Given the description of an element on the screen output the (x, y) to click on. 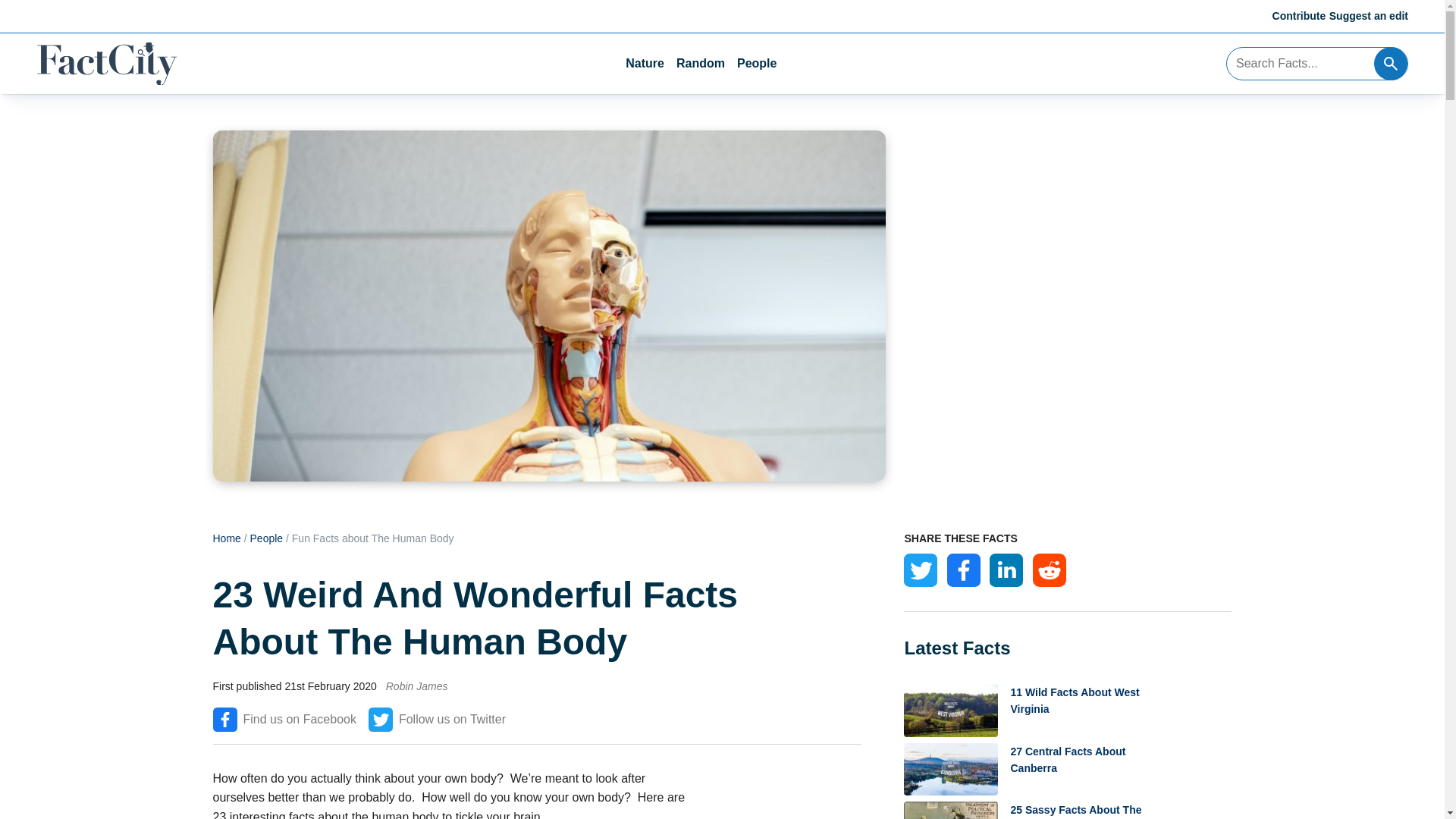
Share this article on Twitter (920, 570)
Twitter (920, 570)
Random (701, 63)
Contribute to FactCity (1299, 15)
Suggest an edit (1368, 15)
25 Sassy Facts About The Suffragettes (1067, 810)
27 Central Facts About Canberra (1067, 769)
Share this article on Reddit (1048, 570)
Facebook (963, 570)
Share this article on Linkedin (1006, 570)
Search (1390, 63)
Search (1390, 63)
People (266, 538)
Fact City (106, 63)
Home (226, 538)
